Given the description of an element on the screen output the (x, y) to click on. 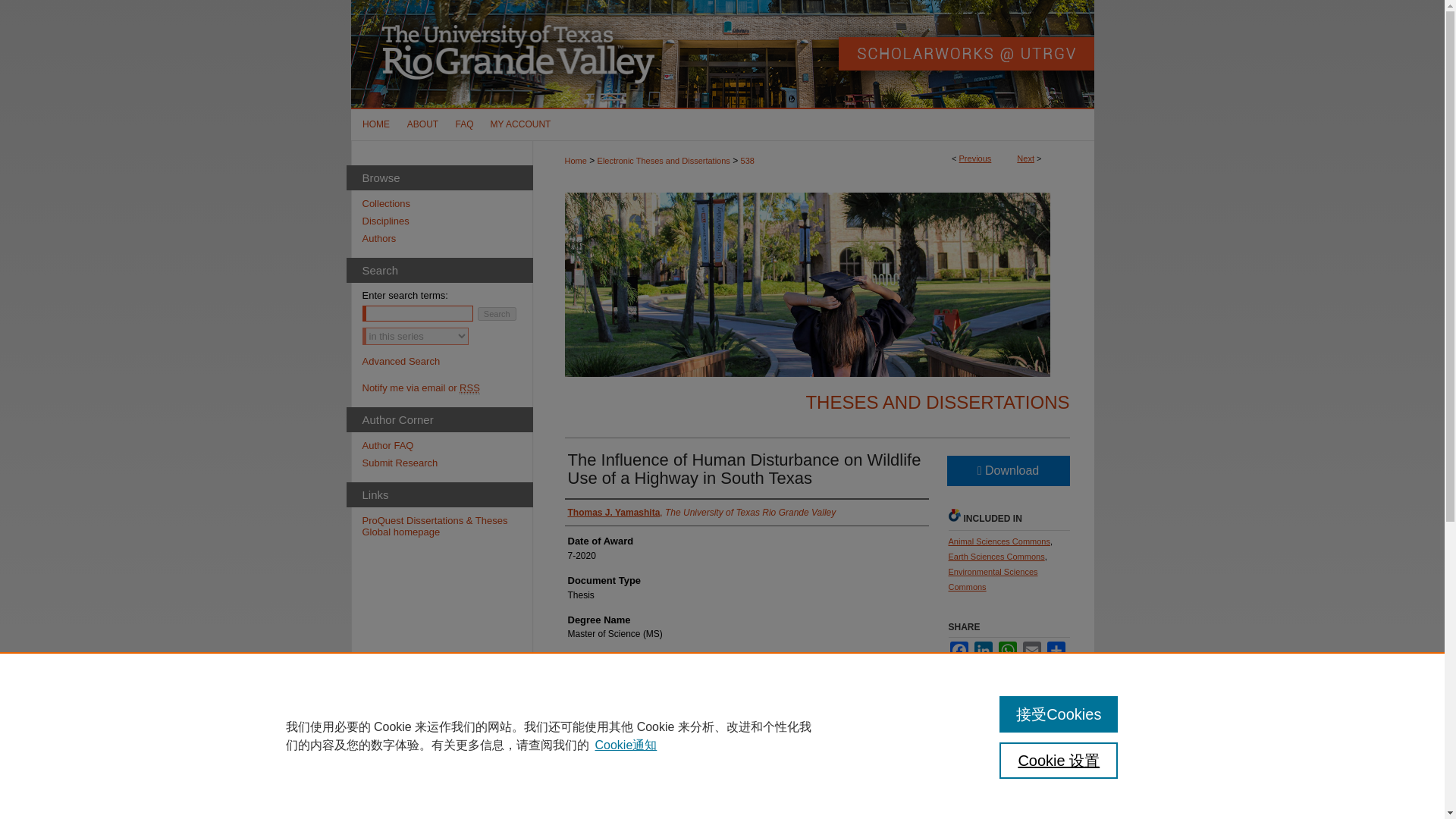
My Account (520, 124)
Email (1031, 650)
Authors (447, 238)
Animal Sciences Commons (998, 541)
Next (1024, 157)
LinkedIn (982, 650)
Earth Sciences Commons (995, 556)
Disciplines (447, 220)
Search (496, 314)
538 (747, 160)
FAQ (463, 124)
MY ACCOUNT (520, 124)
Search (496, 314)
WhatsApp (1006, 650)
